Given the description of an element on the screen output the (x, y) to click on. 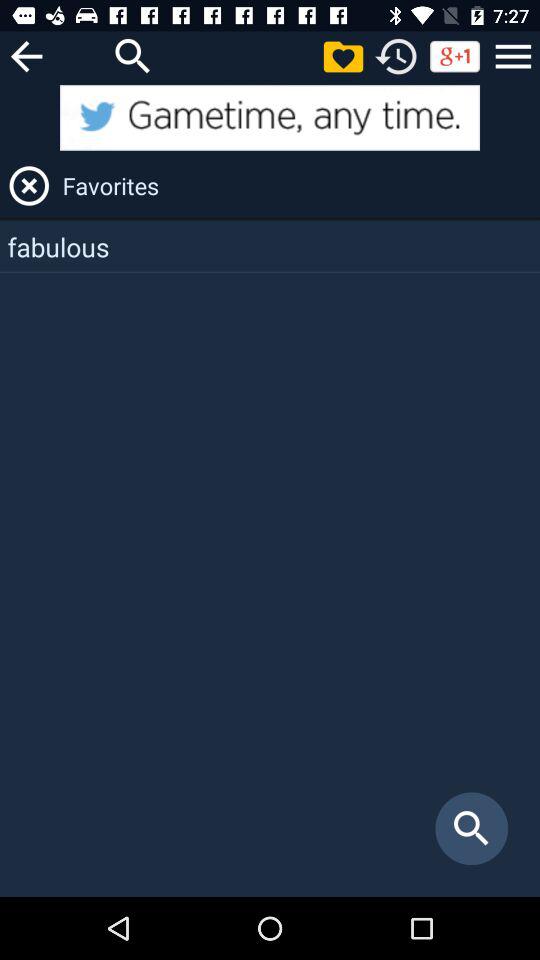
go back to previous screen (26, 56)
